Given the description of an element on the screen output the (x, y) to click on. 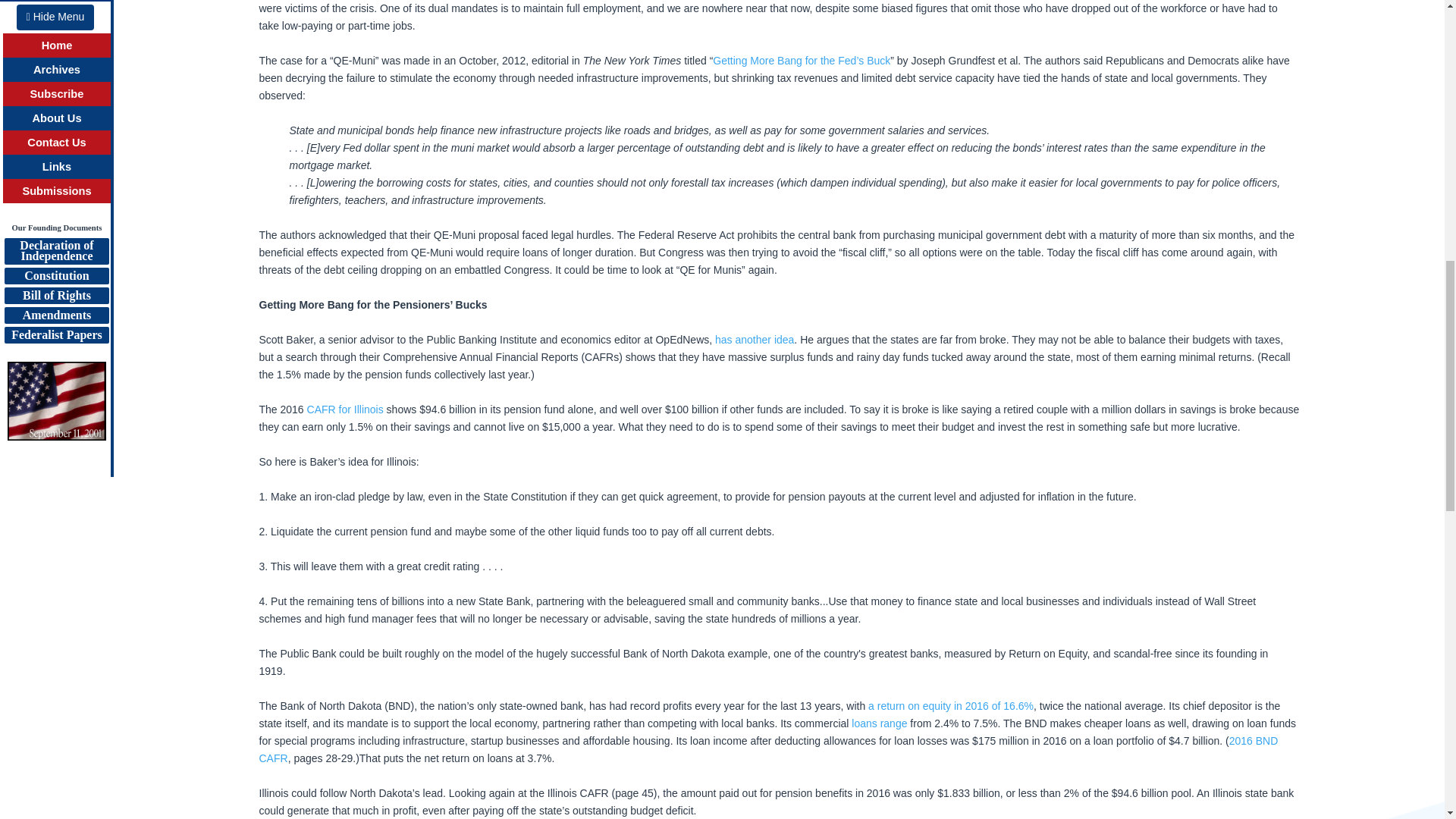
CAFR for Illinois (345, 409)
2016 BND CAFR (768, 749)
loans range (879, 723)
has another idea (753, 339)
